Given the description of an element on the screen output the (x, y) to click on. 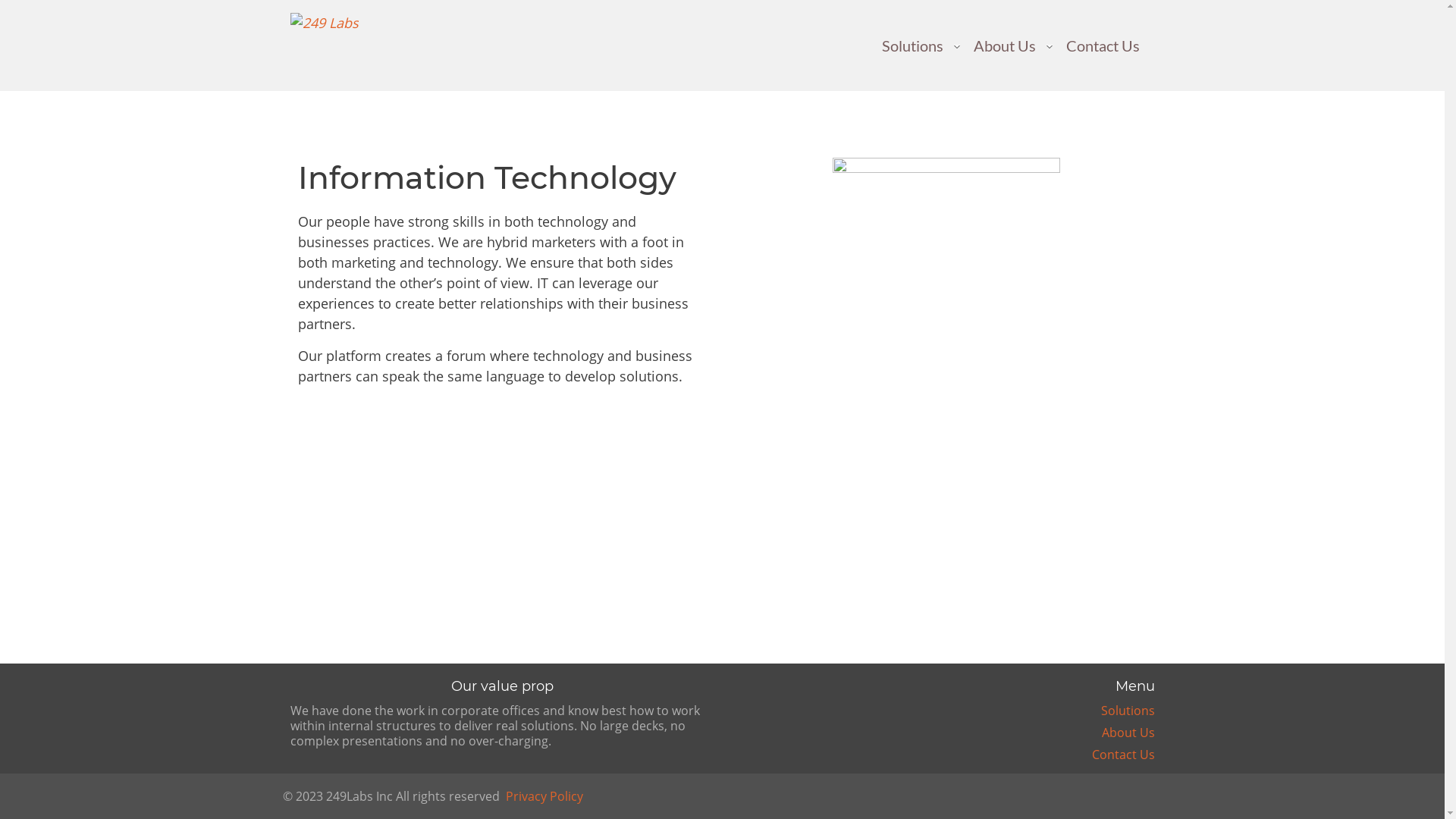
About Us Element type: text (1127, 732)
About Us Element type: text (1004, 45)
Contact Us Element type: text (1123, 754)
Contact Us Element type: text (1102, 45)
Solutions Element type: text (911, 45)
Solutions Element type: text (1127, 710)
Privacy Policy Element type: text (543, 795)
